Given the description of an element on the screen output the (x, y) to click on. 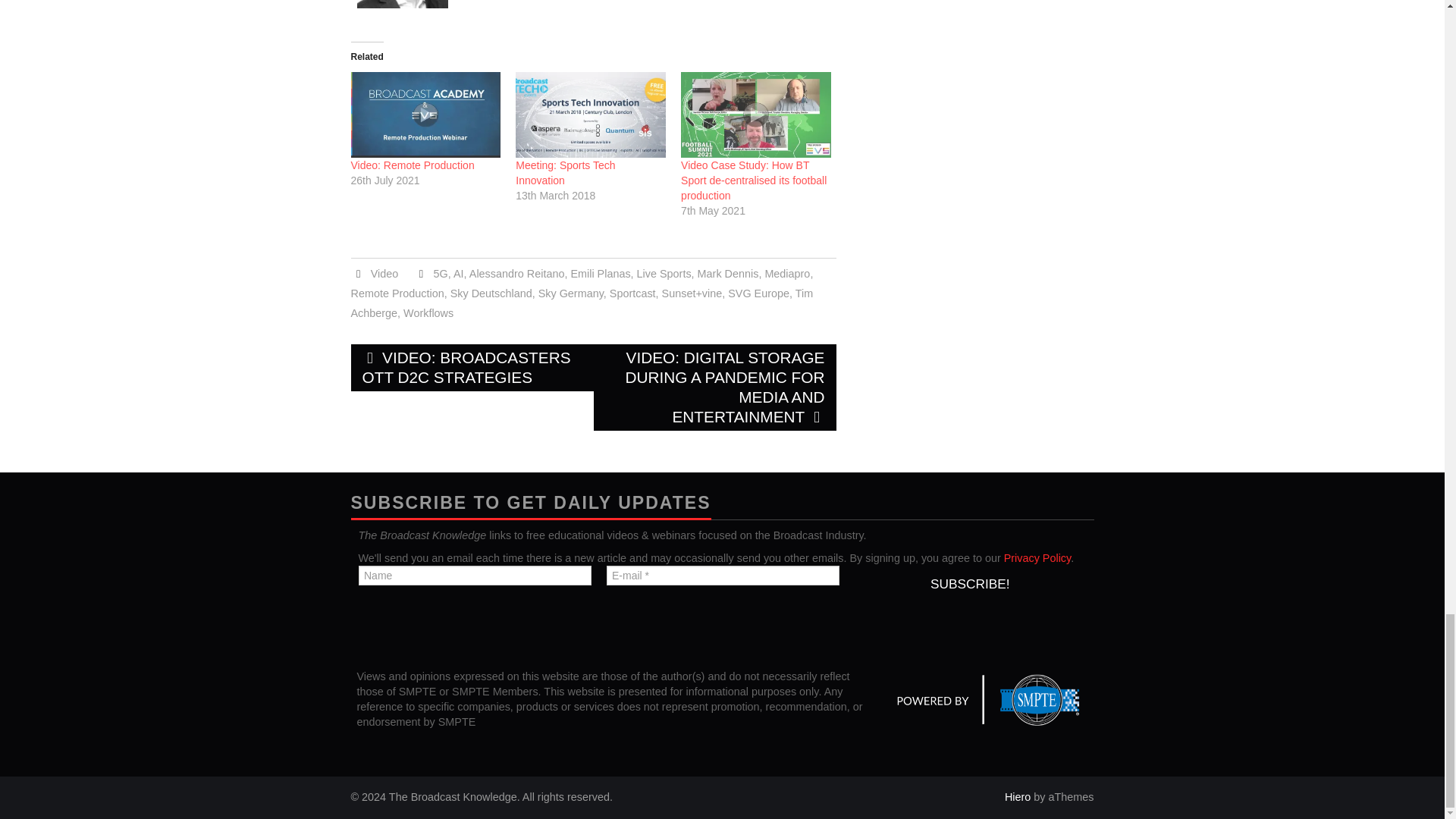
VIDEO: BROADCASTERS OTT D2C STRATEGIES (471, 367)
Emili Planas (600, 273)
Subscribe! (969, 583)
Video: Remote Production (425, 115)
Video: Remote Production (412, 164)
Alessandro Reitano (516, 273)
Live Sports (664, 273)
Tim Achberge (581, 303)
Video: Remote Production (412, 164)
Video (384, 273)
Sky Deutschland (490, 293)
SVG Europe (758, 293)
